Given the description of an element on the screen output the (x, y) to click on. 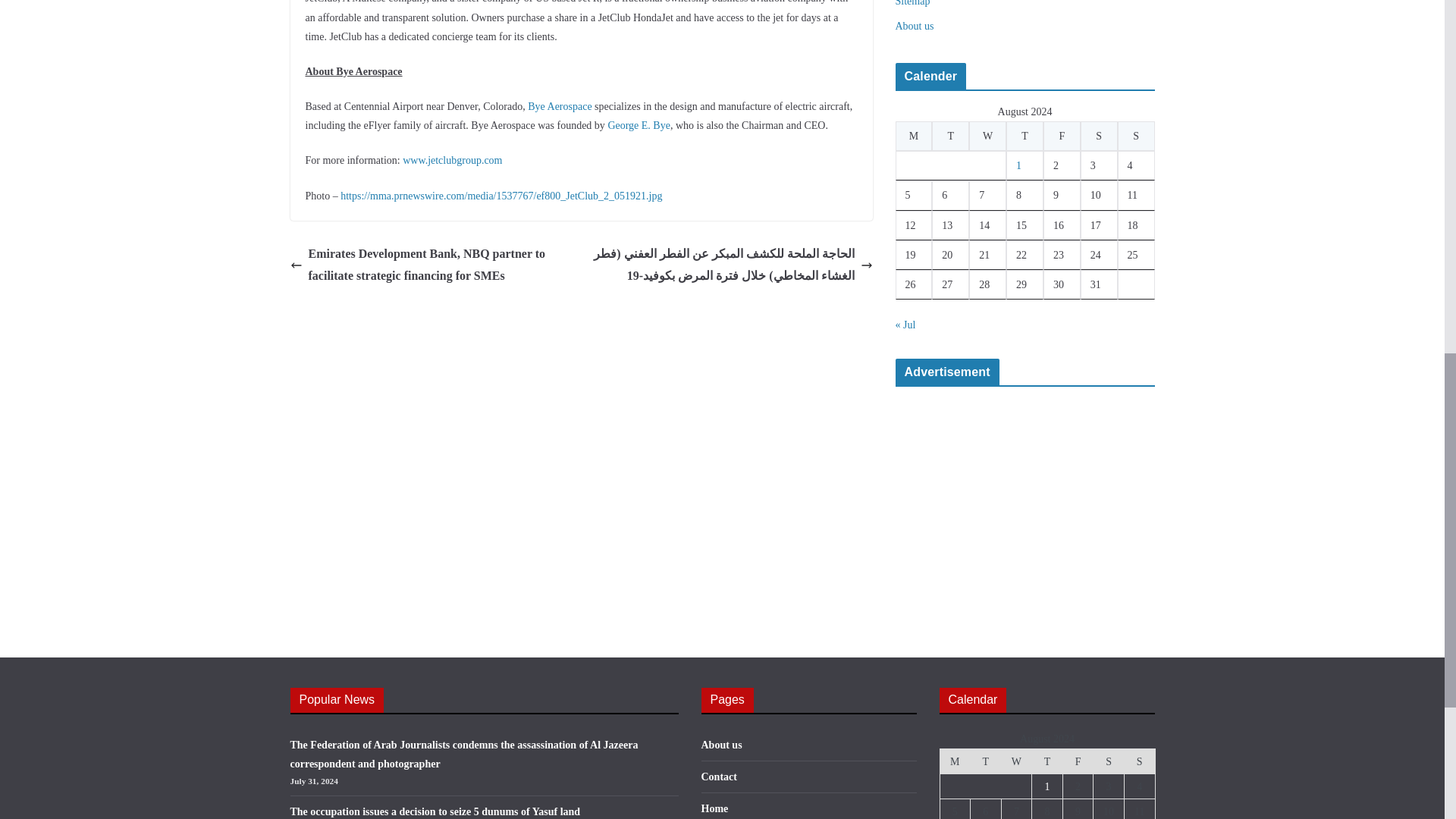
Wednesday (987, 135)
George E. Bye (638, 125)
Monday (913, 135)
Bye Aerospace (559, 106)
Thursday (1024, 135)
Wednesday (1016, 761)
About us (914, 25)
Sitemap (912, 3)
Friday (1061, 135)
Tuesday (950, 135)
www.jetclubgroup.com (452, 160)
Saturday (1099, 135)
